Given the description of an element on the screen output the (x, y) to click on. 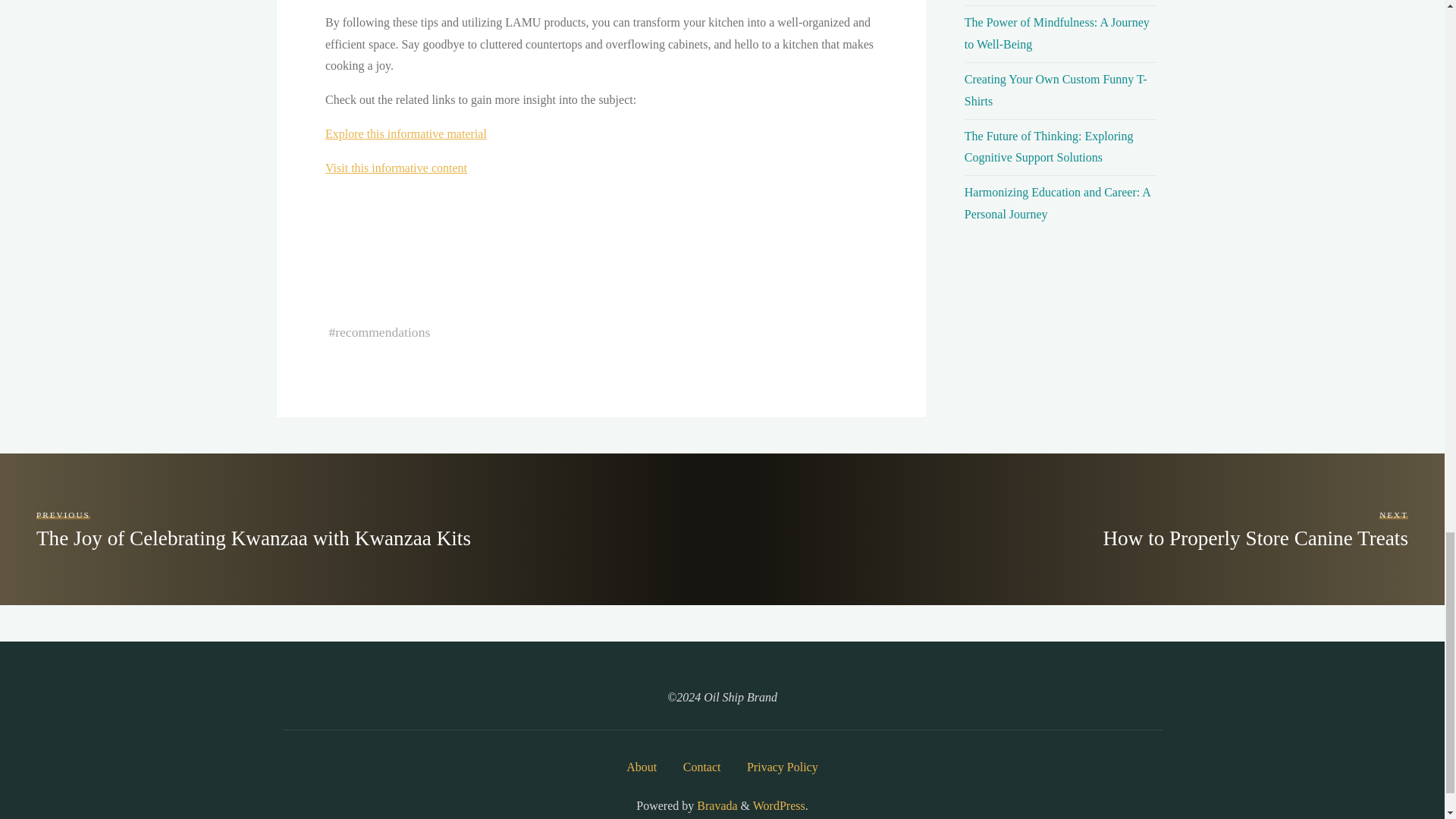
Visit this informative content (394, 167)
The Power of Mindfulness: A Journey to Well-Being (1254, 529)
Harmonizing Education and Career: A Personal Journey (1056, 32)
Bravada WordPress Theme by Cryout Creations (1056, 202)
Explore this informative material (715, 805)
recommendations (405, 133)
Semantic Personal Publishing Platform (381, 331)
Creating Your Own Custom Funny T-Shirts (778, 805)
